Given the description of an element on the screen output the (x, y) to click on. 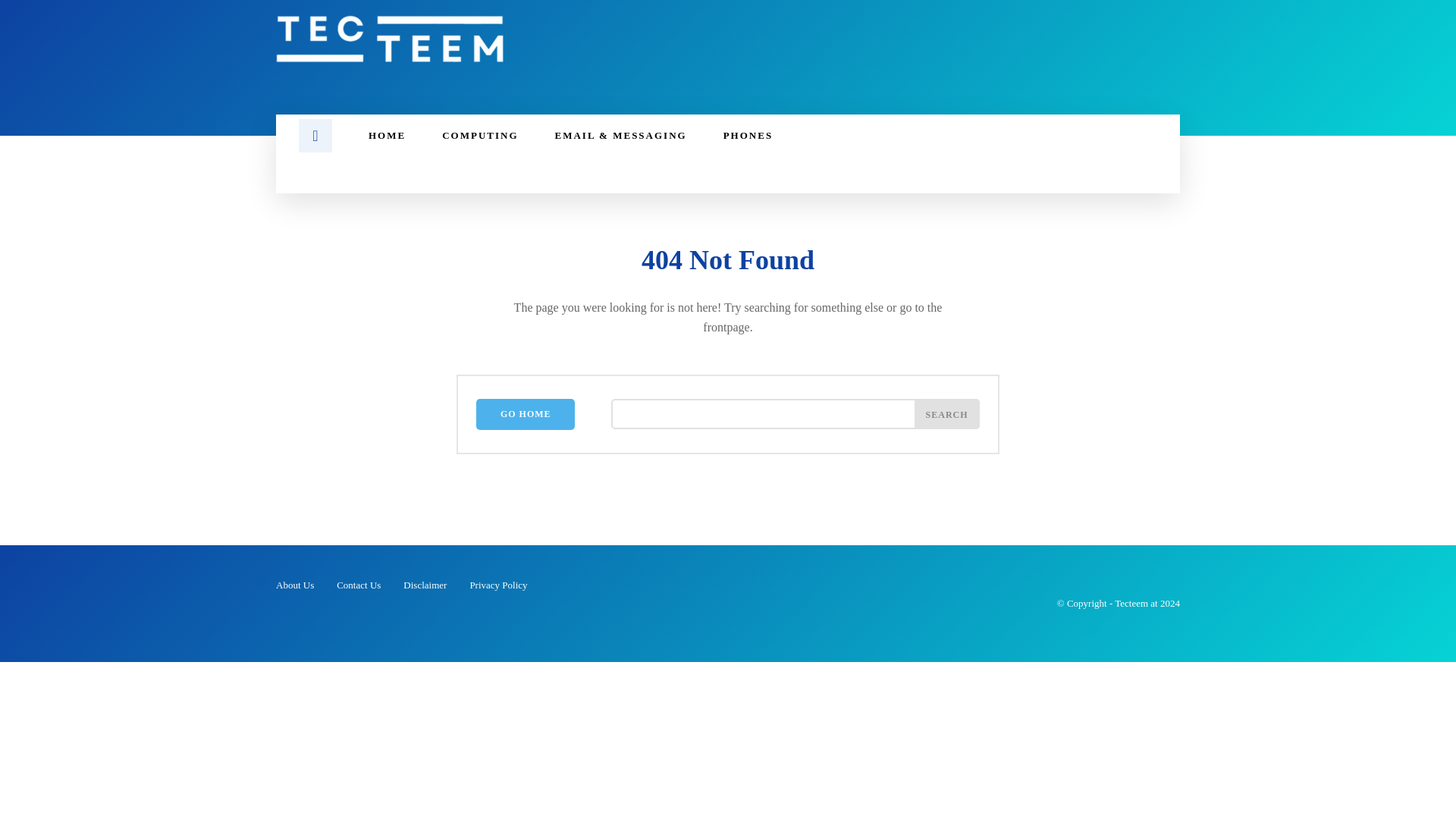
Go home (525, 413)
Privacy Policy (497, 585)
About Us (295, 585)
Contact Us (358, 585)
COMPUTING (479, 135)
PHONES (747, 135)
HOME (386, 135)
SEARCH (946, 413)
GO HOME (525, 413)
Disclaimer (424, 585)
